Given the description of an element on the screen output the (x, y) to click on. 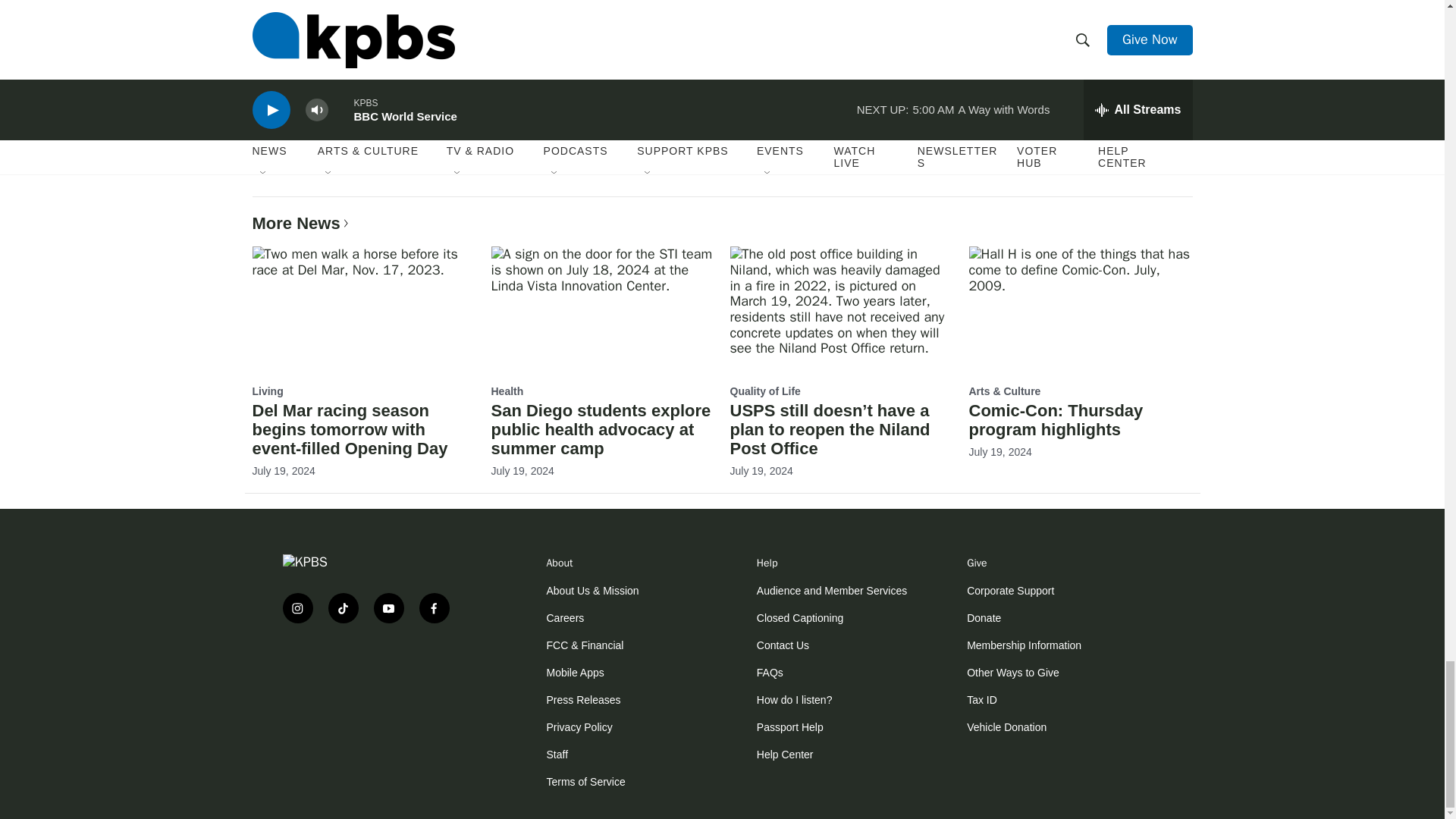
3rd party ad content (373, 683)
